Given the description of an element on the screen output the (x, y) to click on. 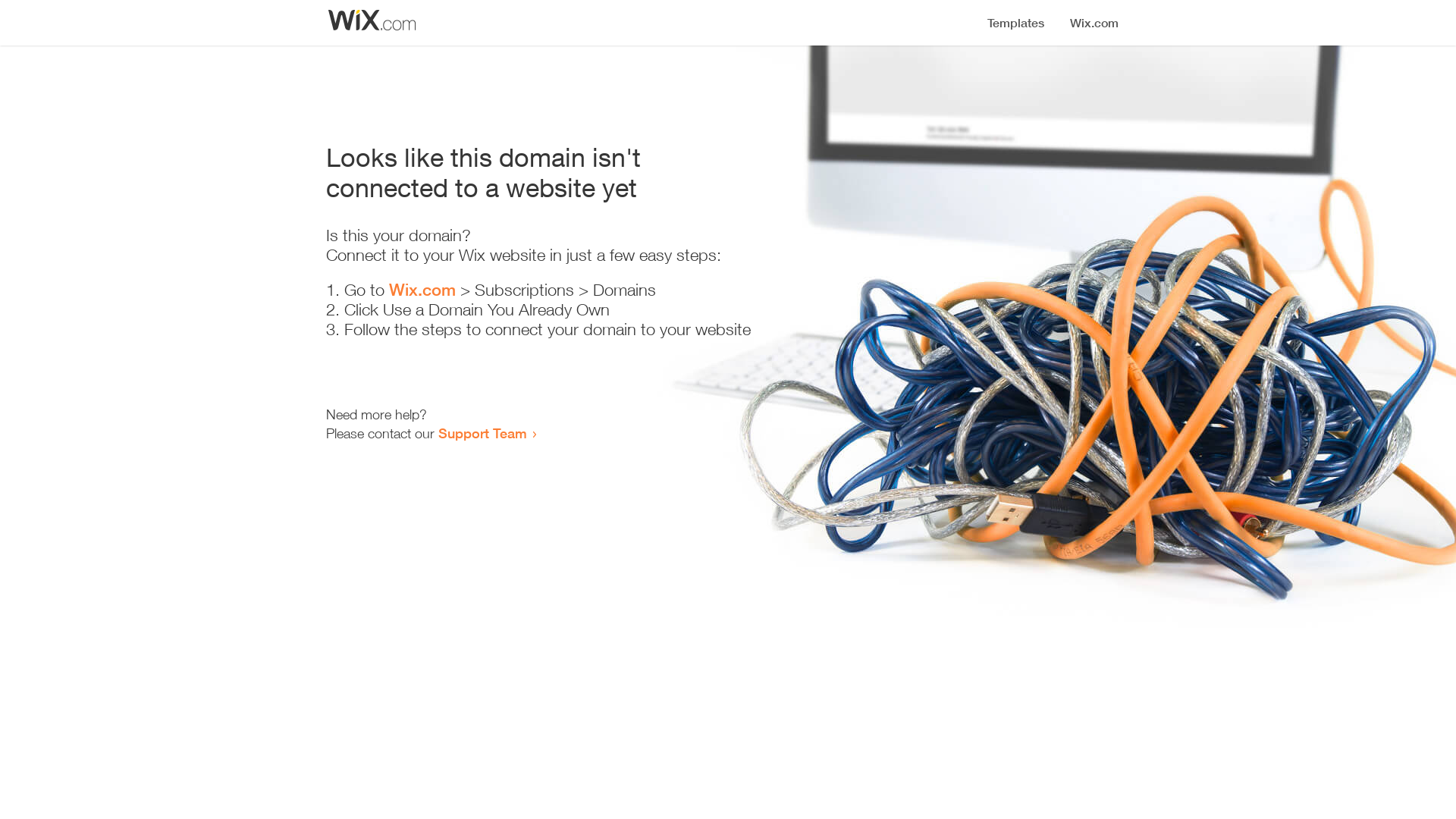
Support Team Element type: text (482, 432)
Wix.com Element type: text (422, 289)
